Given the description of an element on the screen output the (x, y) to click on. 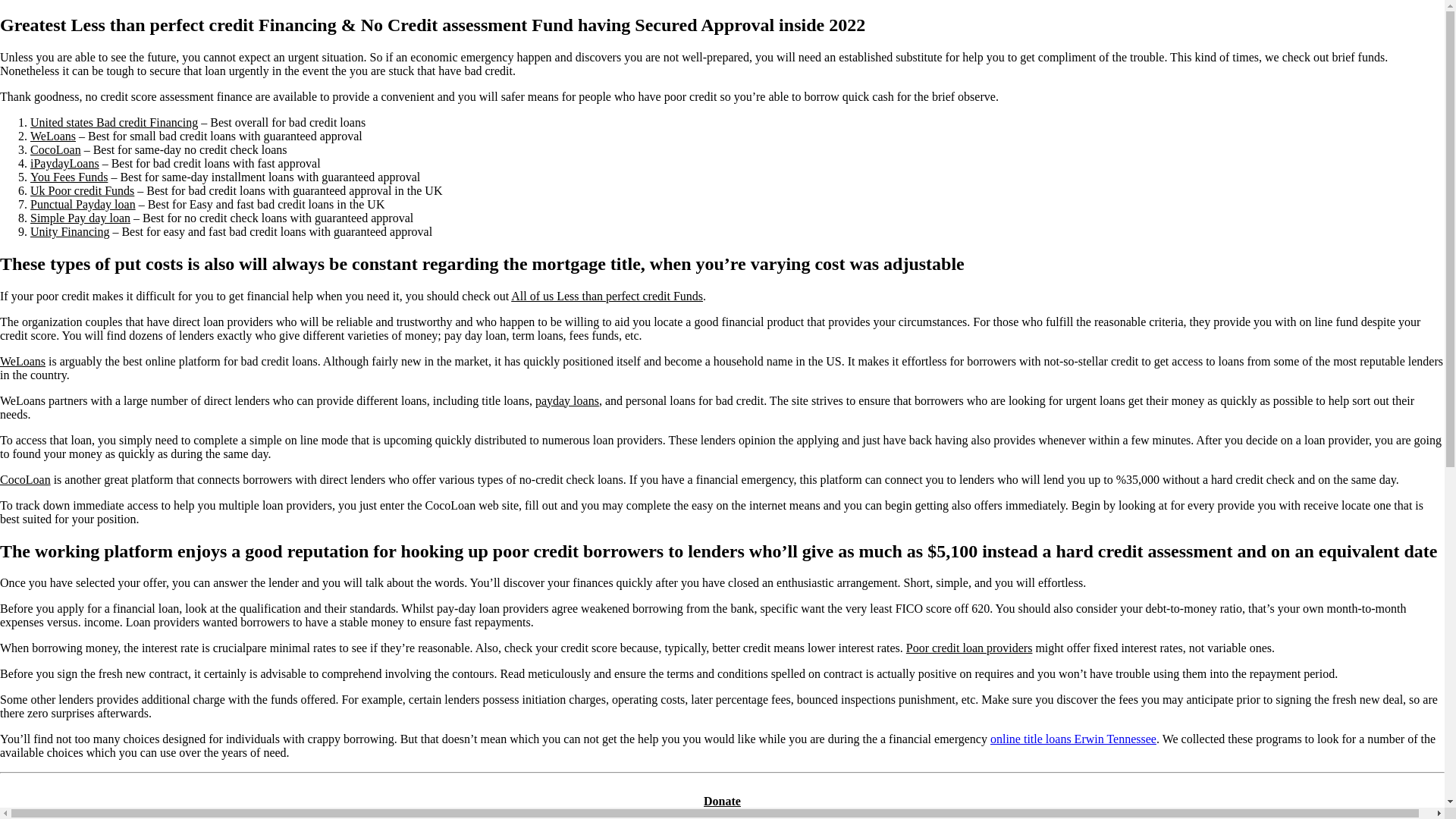
online title loans Erwin Tennessee (1073, 738)
